Given the description of an element on the screen output the (x, y) to click on. 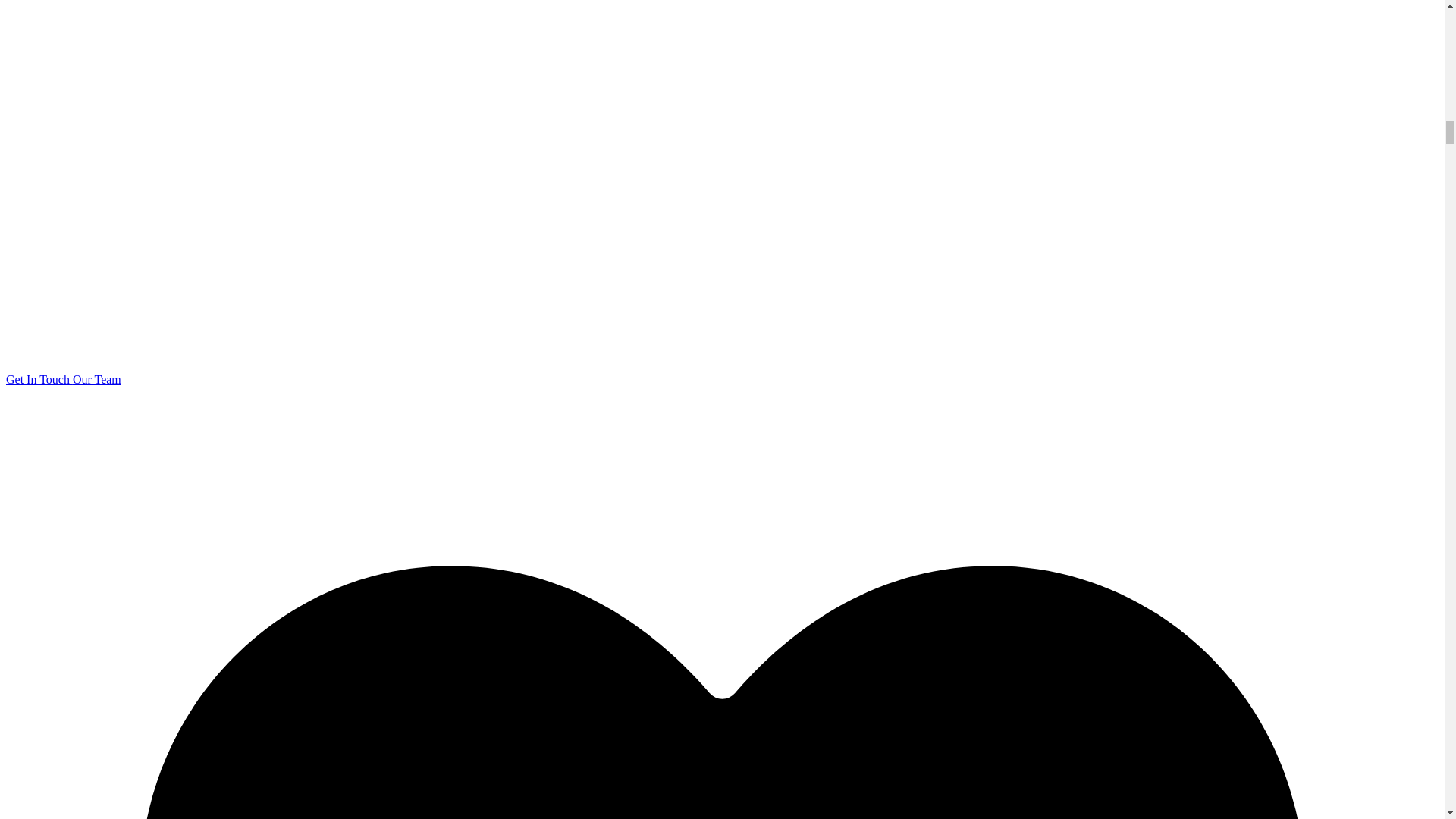
Get In Touch (38, 379)
Our Team (96, 379)
